Given the description of an element on the screen output the (x, y) to click on. 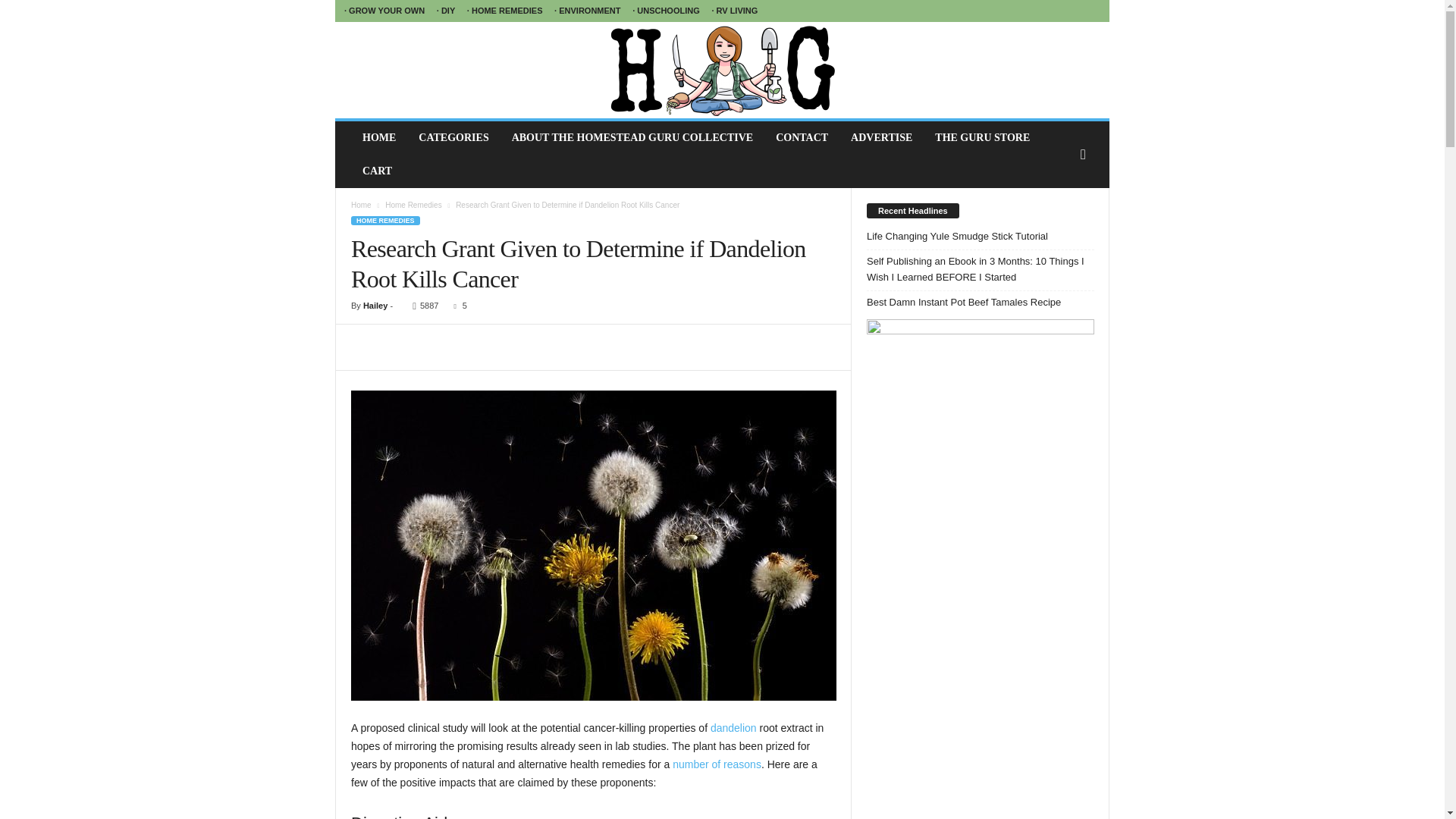
CATEGORIES (453, 137)
View all posts in Home Remedies (413, 204)
HOME (378, 137)
HG (721, 69)
ABOUT THE HOMESTEAD GURU COLLECTIVE (632, 137)
